Given the description of an element on the screen output the (x, y) to click on. 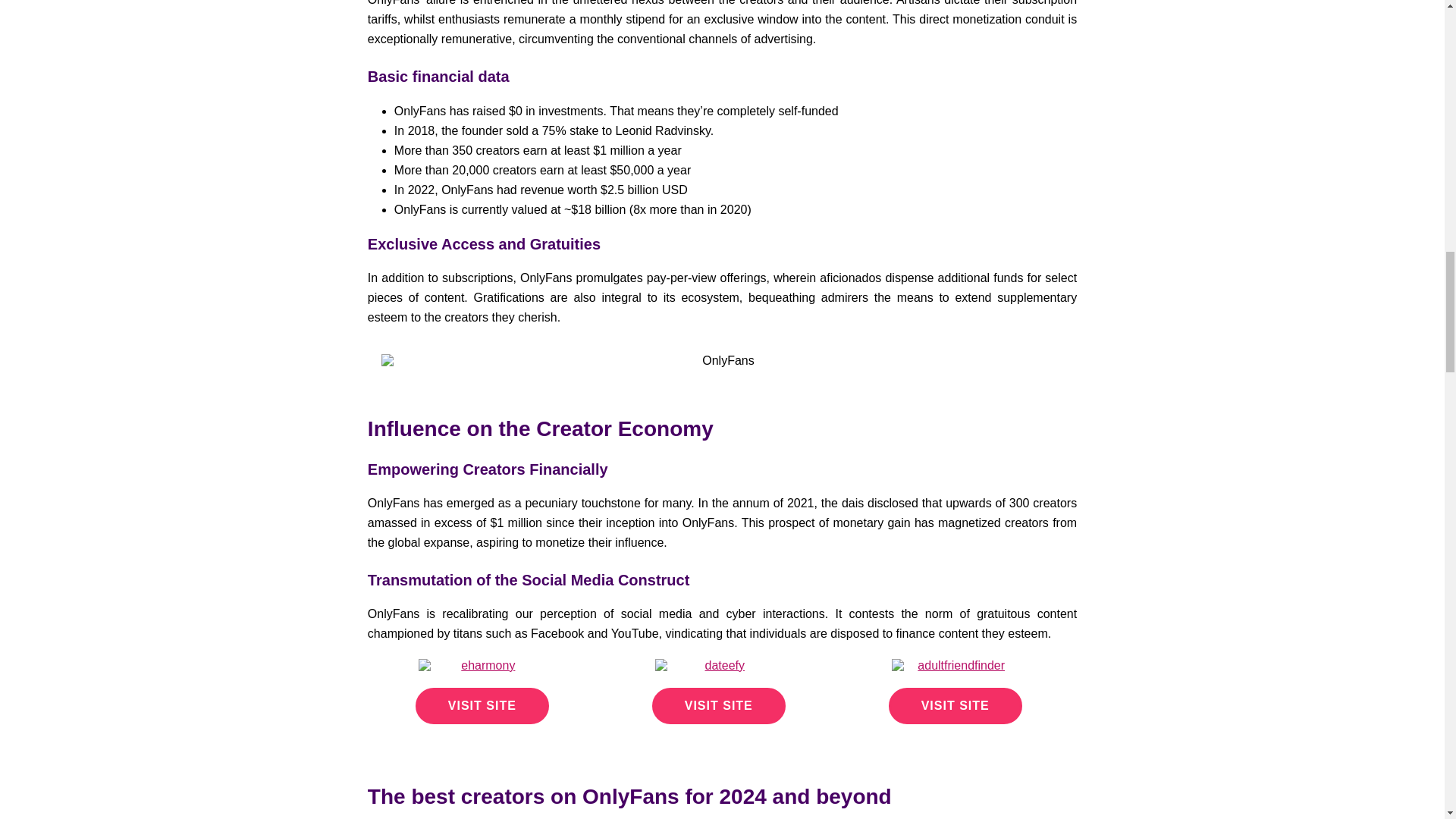
VISIT SITE (719, 705)
VISIT SITE (955, 705)
OnlyFans (721, 349)
VISIT SITE (481, 705)
